Given the description of an element on the screen output the (x, y) to click on. 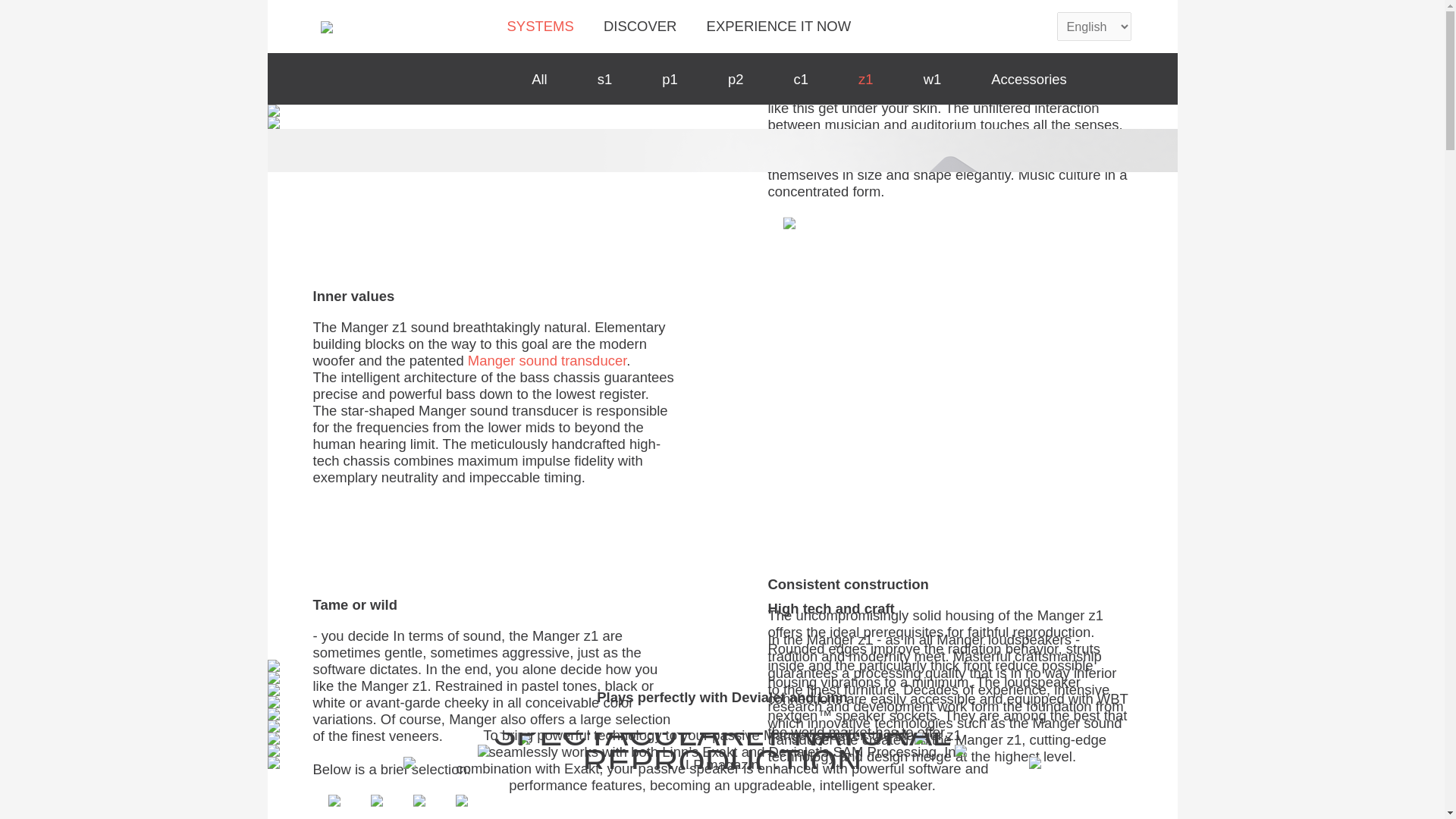
EXPERIENCE IT NOW (778, 26)
DISCOVER (640, 26)
Manger sound transducer (546, 360)
SYSTEMS (539, 26)
Accessories (1029, 78)
